Given the description of an element on the screen output the (x, y) to click on. 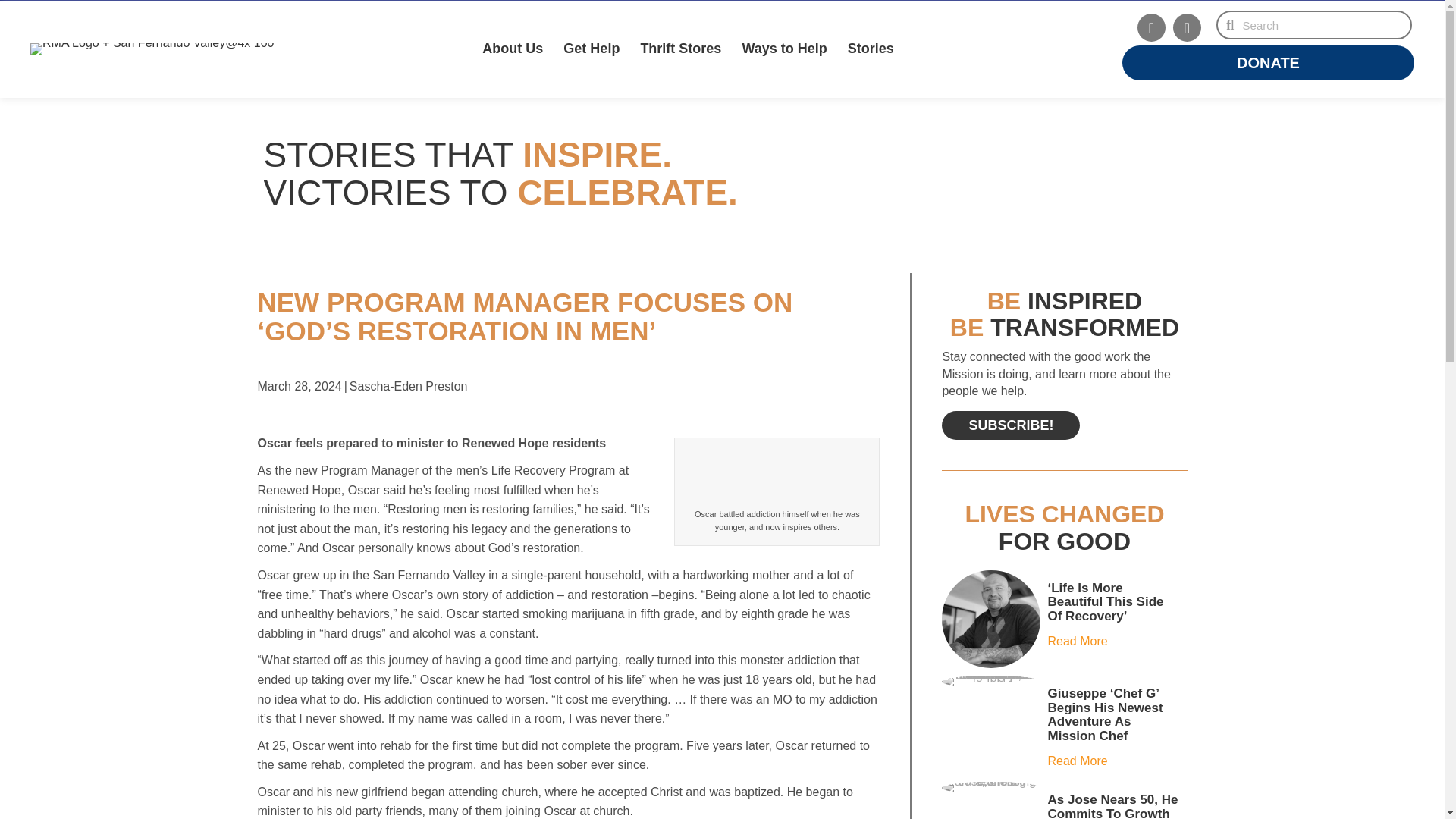
About Us (513, 48)
Giuseppe (990, 681)
javier (990, 619)
DONATE (1267, 62)
Jose (990, 787)
Get Help (592, 48)
Thrift Stores (681, 48)
Search (1321, 24)
As Jose nears 50, he commits to growth (1112, 805)
Ways to Help (785, 48)
Stories (871, 48)
